Given the description of an element on the screen output the (x, y) to click on. 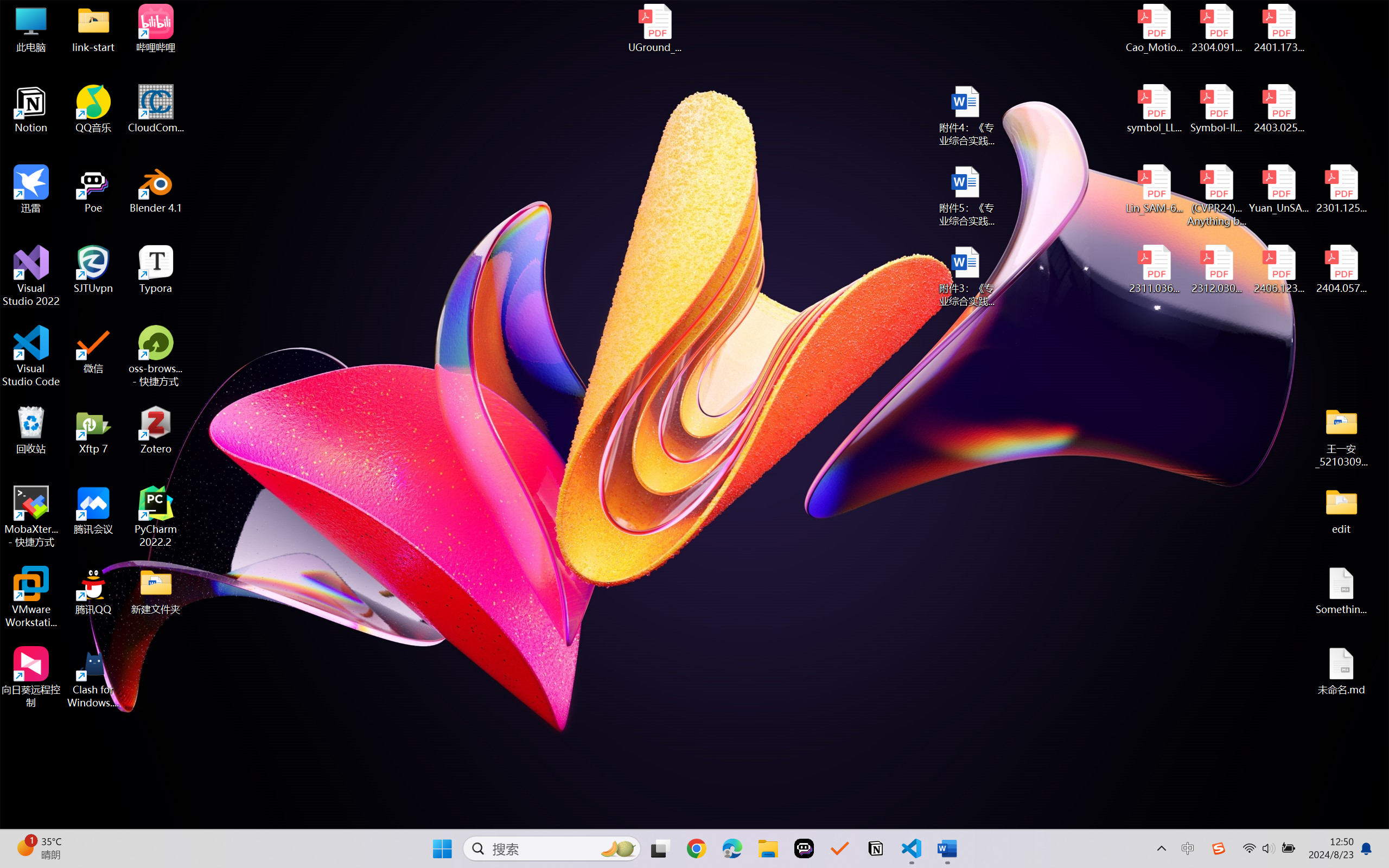
UGround_paper.pdf (654, 28)
2406.12373v2.pdf (1278, 269)
Typora (156, 269)
